Given the description of an element on the screen output the (x, y) to click on. 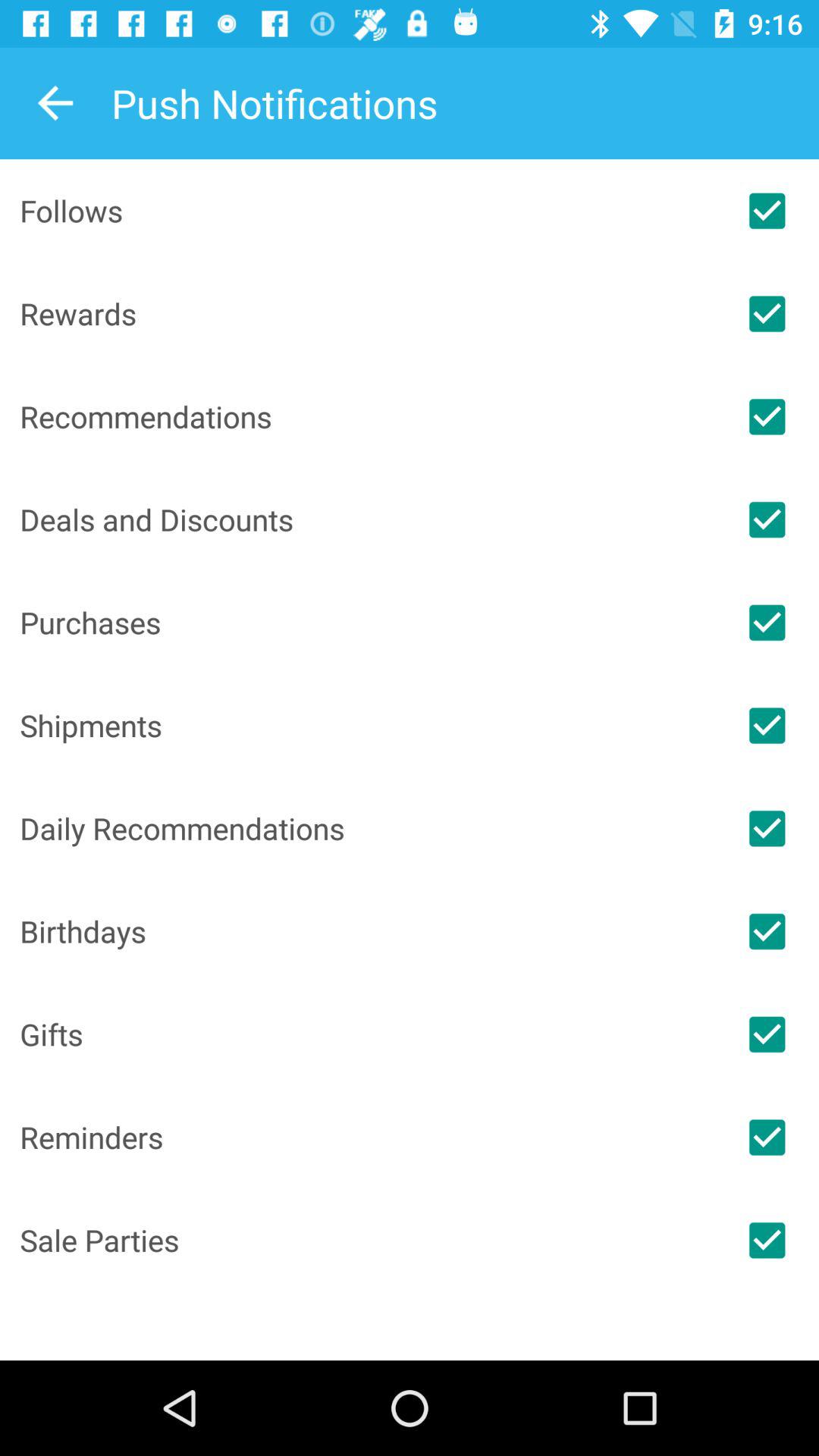
make a selection for reminders (767, 1137)
